Given the description of an element on the screen output the (x, y) to click on. 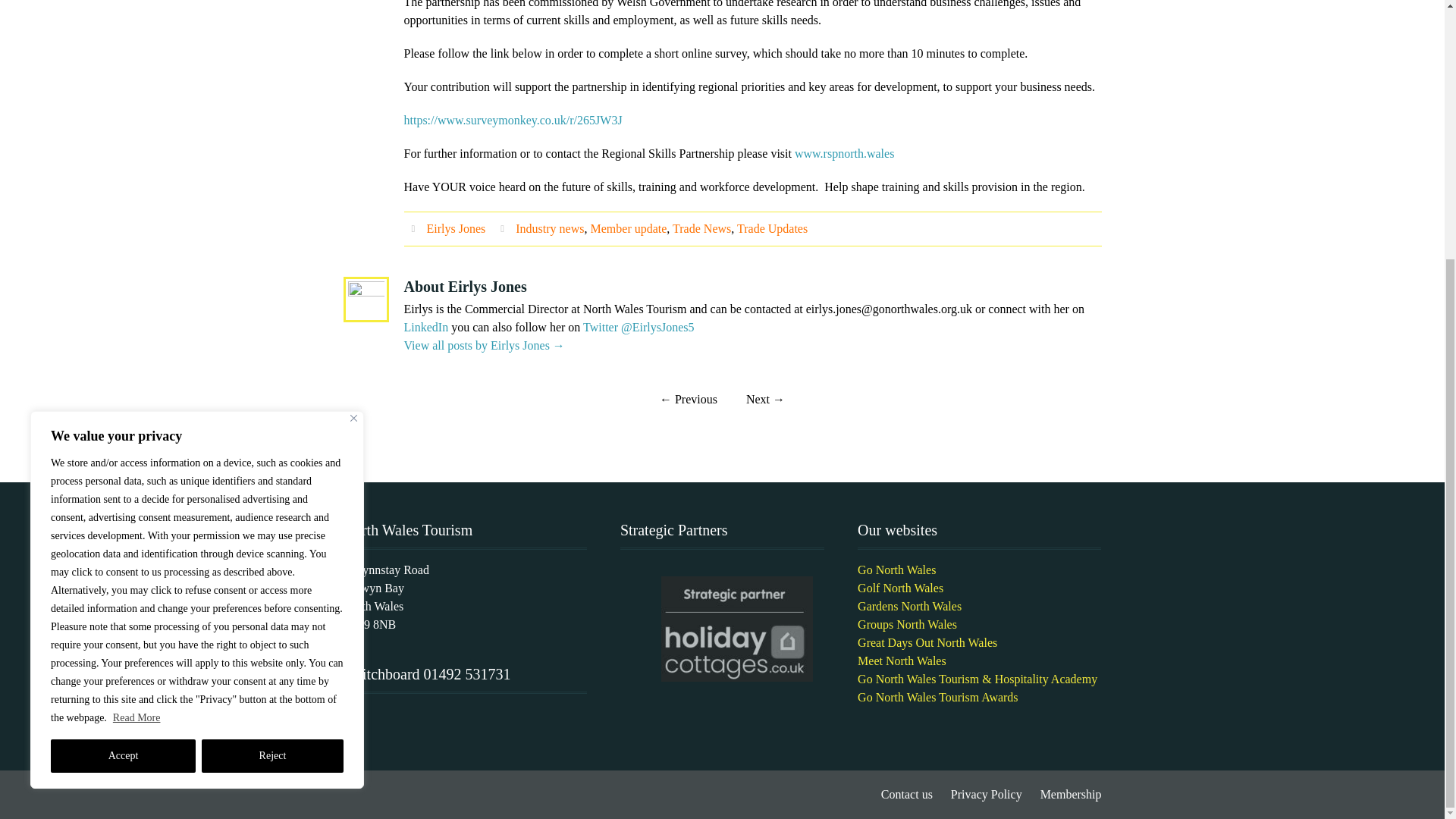
Read More (136, 346)
Accept (122, 385)
Reject (272, 385)
View all posts by Eirlys Jones (455, 228)
